Given the description of an element on the screen output the (x, y) to click on. 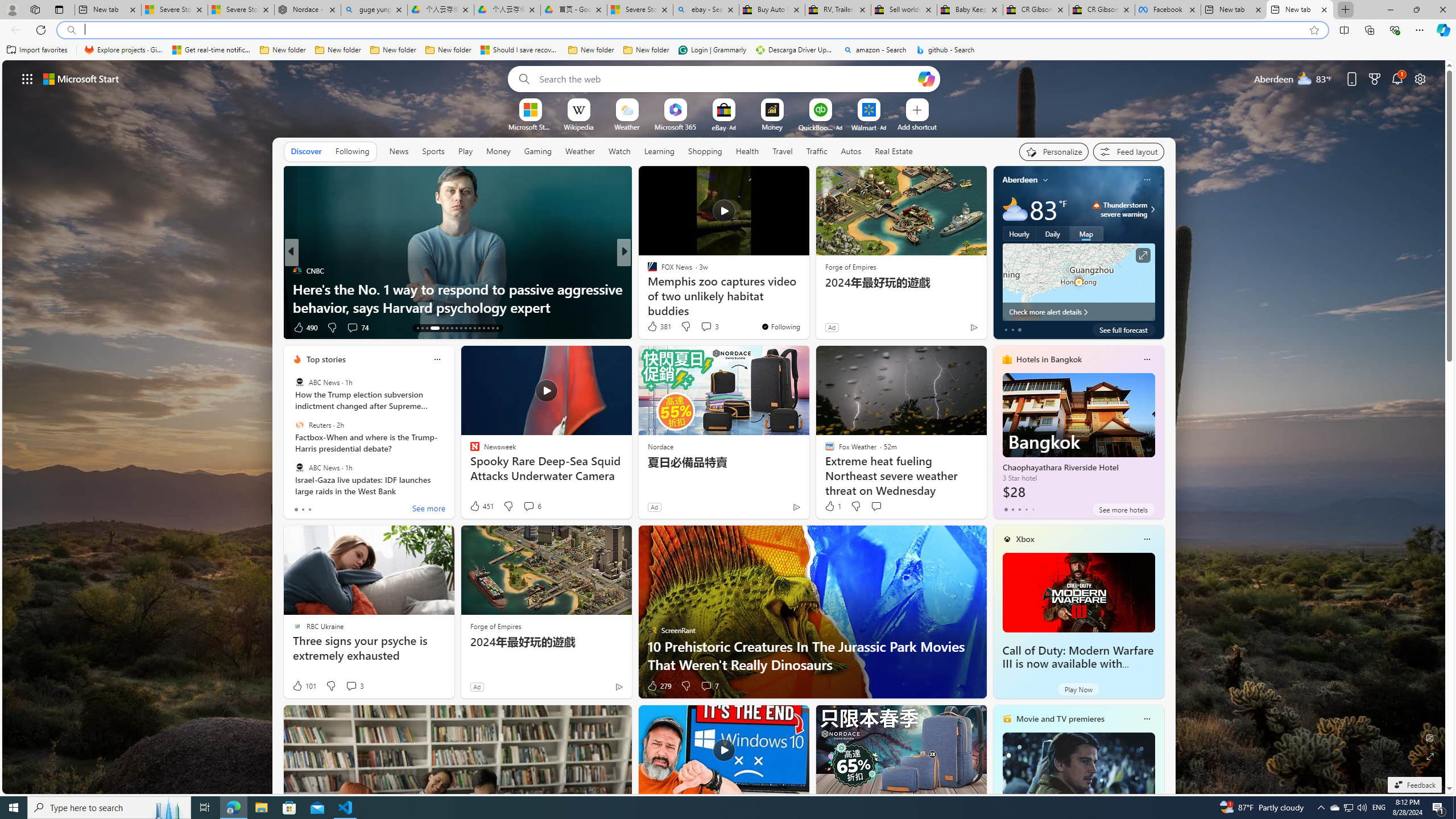
View comments 74 Comment (357, 327)
Top stories (325, 359)
101 Like (303, 685)
Feed settings (1128, 151)
Travel (782, 151)
View comments 2 Comment (698, 327)
AutomationID: tab-23 (470, 328)
Wikipedia (578, 126)
